Given the description of an element on the screen output the (x, y) to click on. 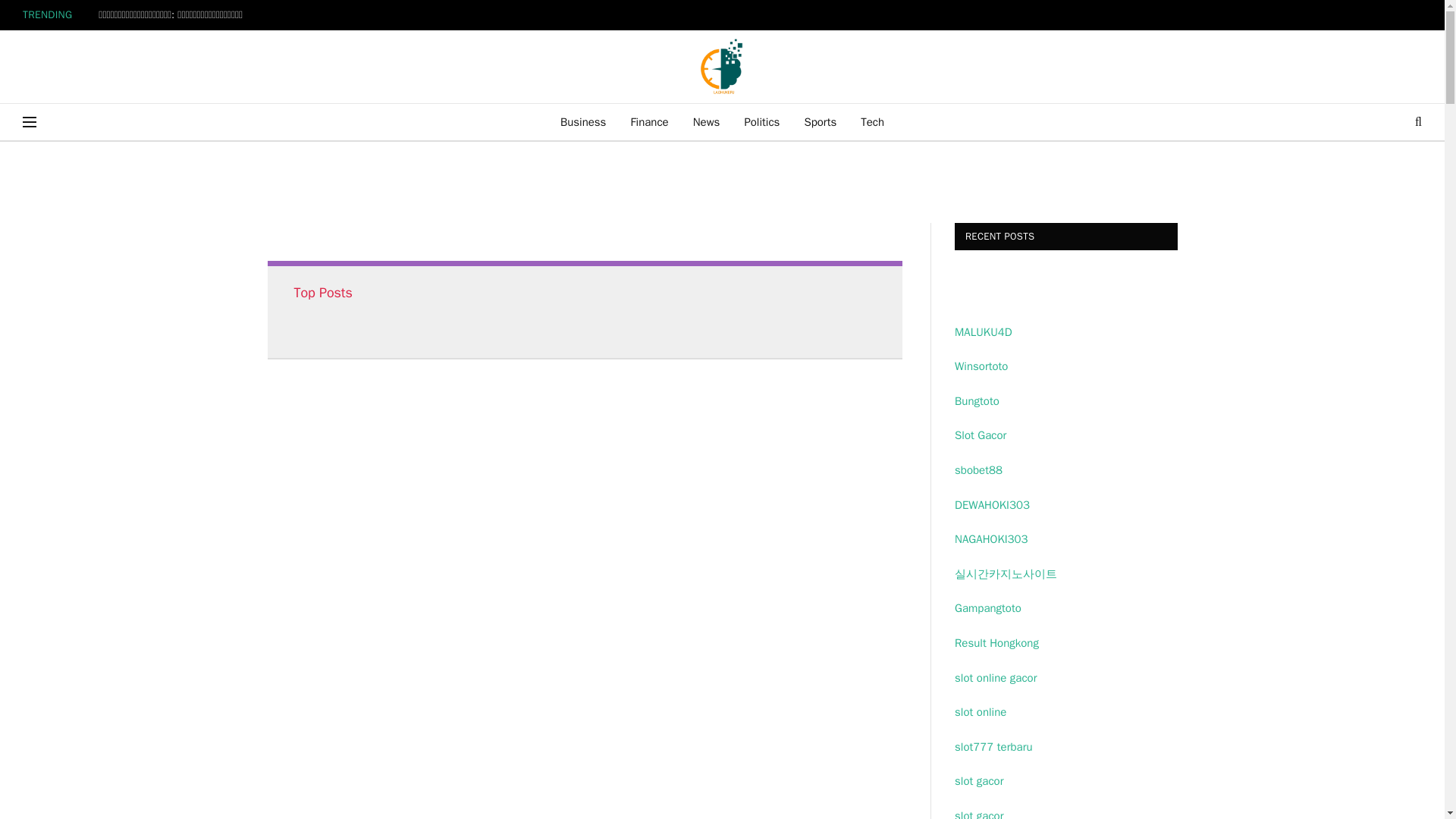
laohukefu.com (722, 66)
Politics (762, 122)
Tech (872, 122)
Sports (820, 122)
News (706, 122)
Business (583, 122)
Finance (648, 122)
